Given the description of an element on the screen output the (x, y) to click on. 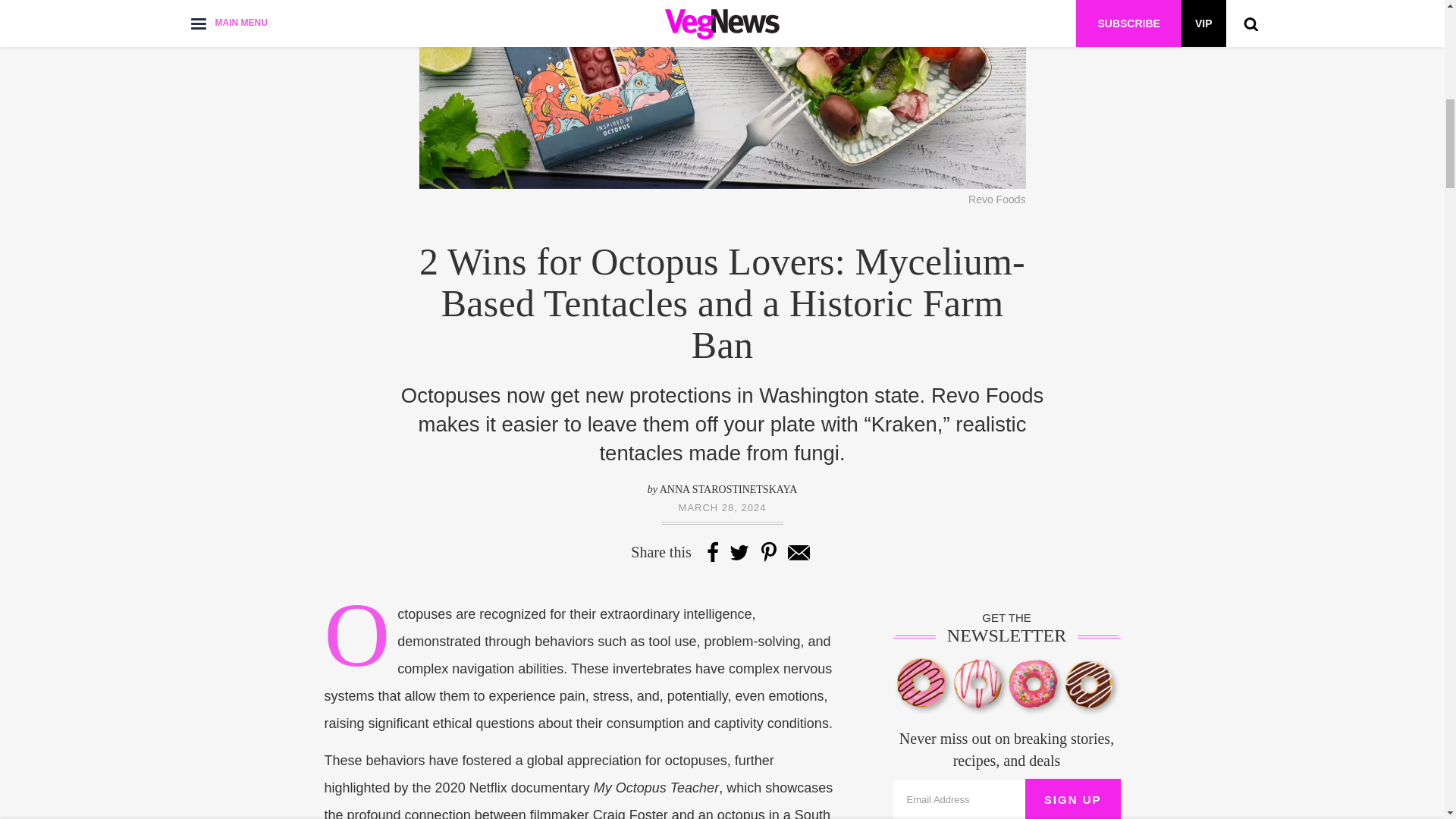
Sign Up (1073, 798)
Share article via email (798, 551)
Share article on Twitter (739, 551)
